Given the description of an element on the screen output the (x, y) to click on. 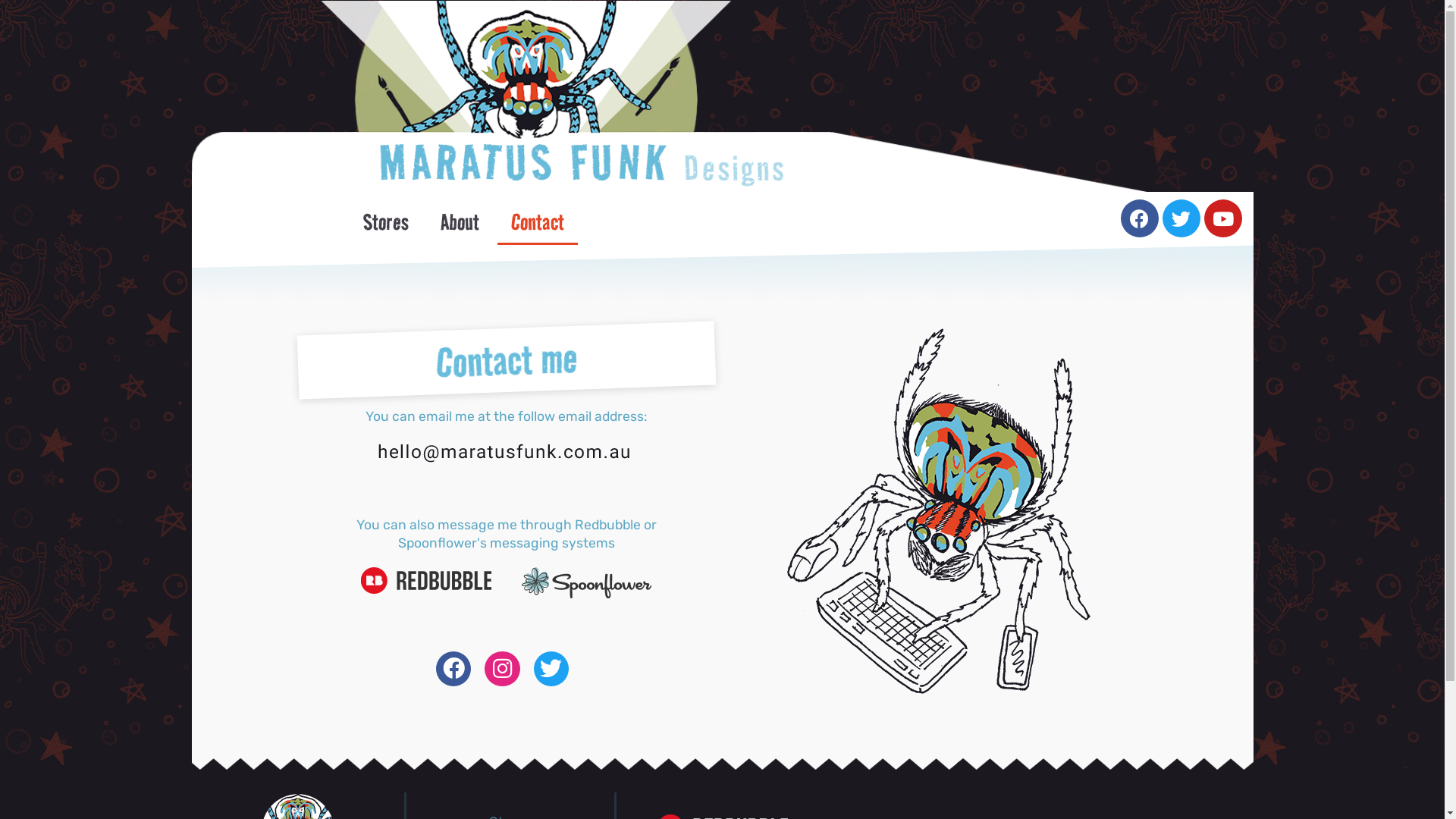
Stores Element type: text (385, 221)
SF-Logo-Horizontal-RGB-2Color Element type: hover (586, 582)
1024px-Redbubble_logo.svg Element type: hover (425, 580)
Contact Element type: text (537, 221)
About Element type: text (459, 221)
